Given the description of an element on the screen output the (x, y) to click on. 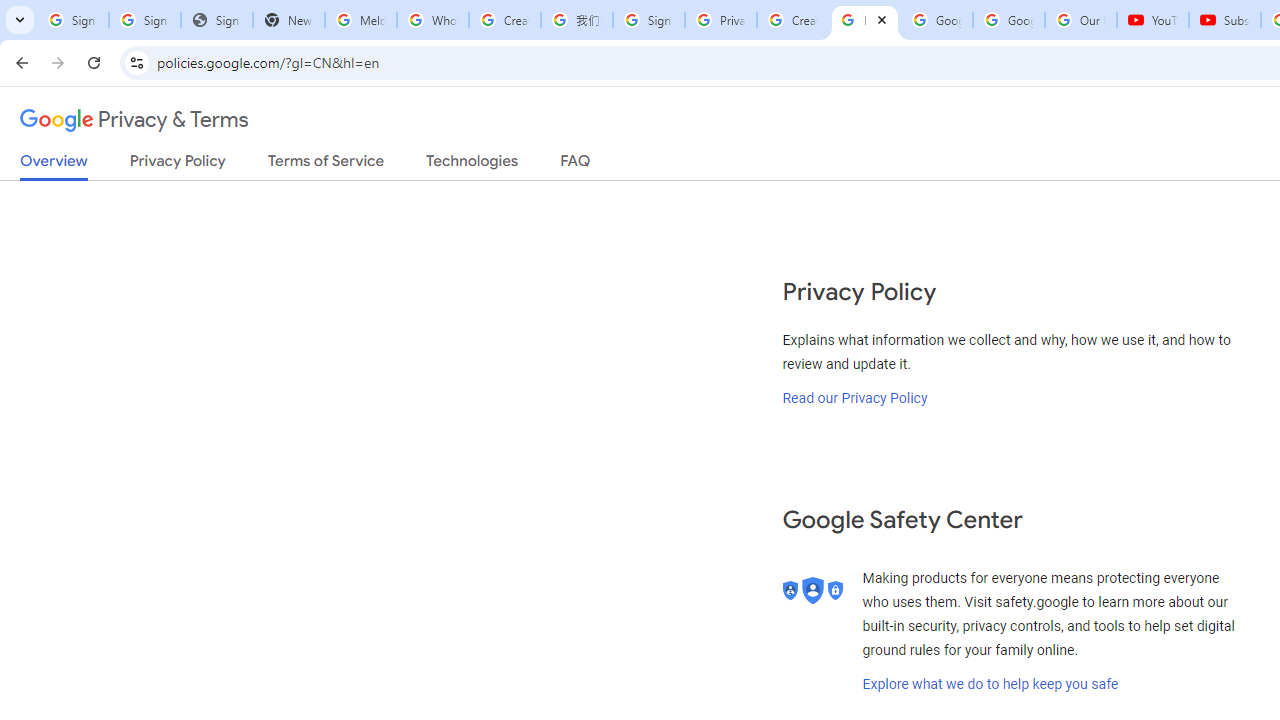
Privacy & Terms (134, 120)
Create your Google Account (792, 20)
Read our Privacy Policy (855, 397)
Sign In - USA TODAY (216, 20)
Subscriptions - YouTube (1224, 20)
YouTube (1153, 20)
Who is my administrator? - Google Account Help (432, 20)
Sign in - Google Accounts (144, 20)
Explore what we do to help keep you safe (989, 683)
